Given the description of an element on the screen output the (x, y) to click on. 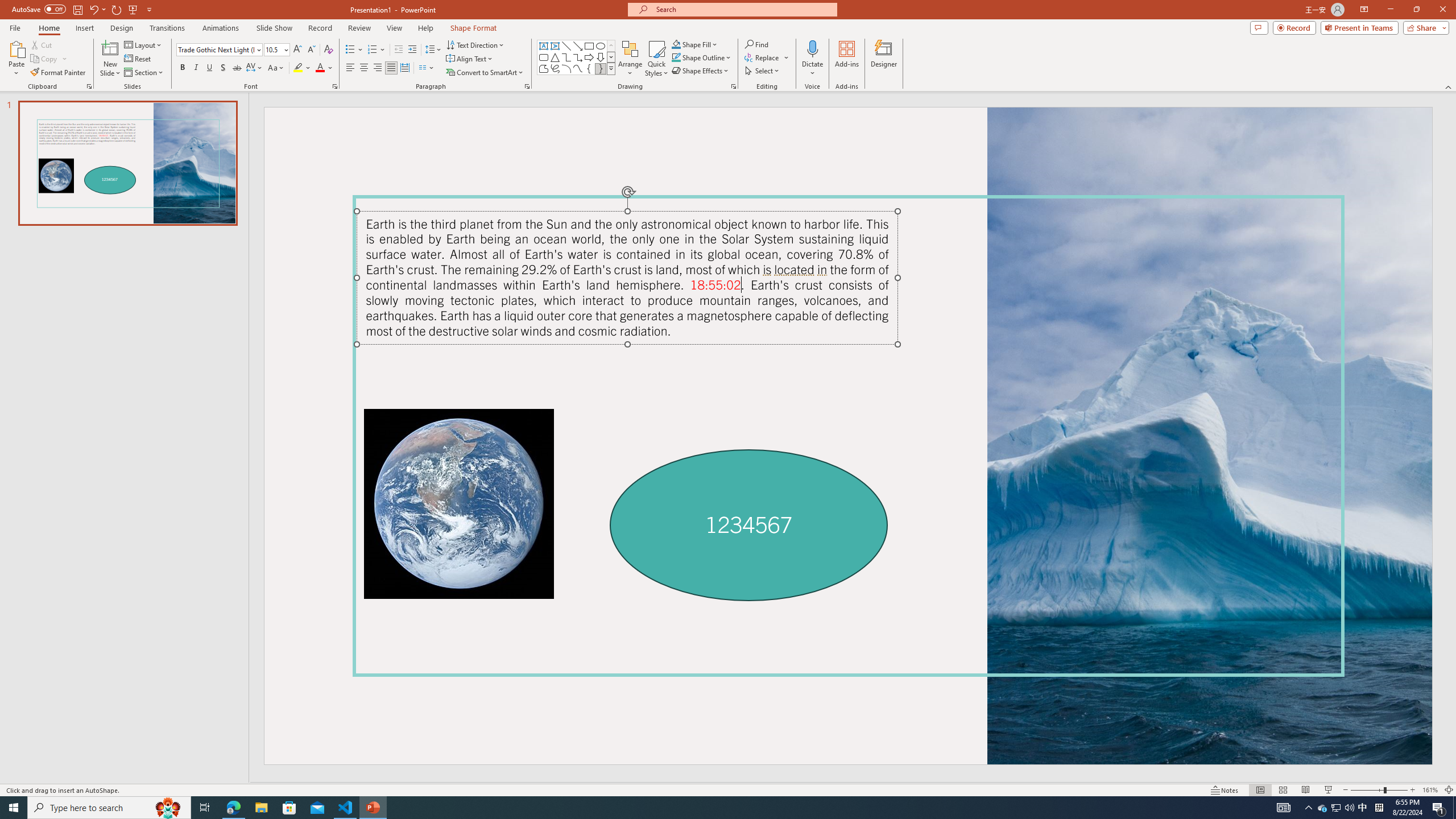
Connector: Elbow (566, 57)
Arrow: Down (600, 57)
Increase Indent (412, 49)
Distributed (404, 67)
Vertical Text Box (554, 45)
